Given the description of an element on the screen output the (x, y) to click on. 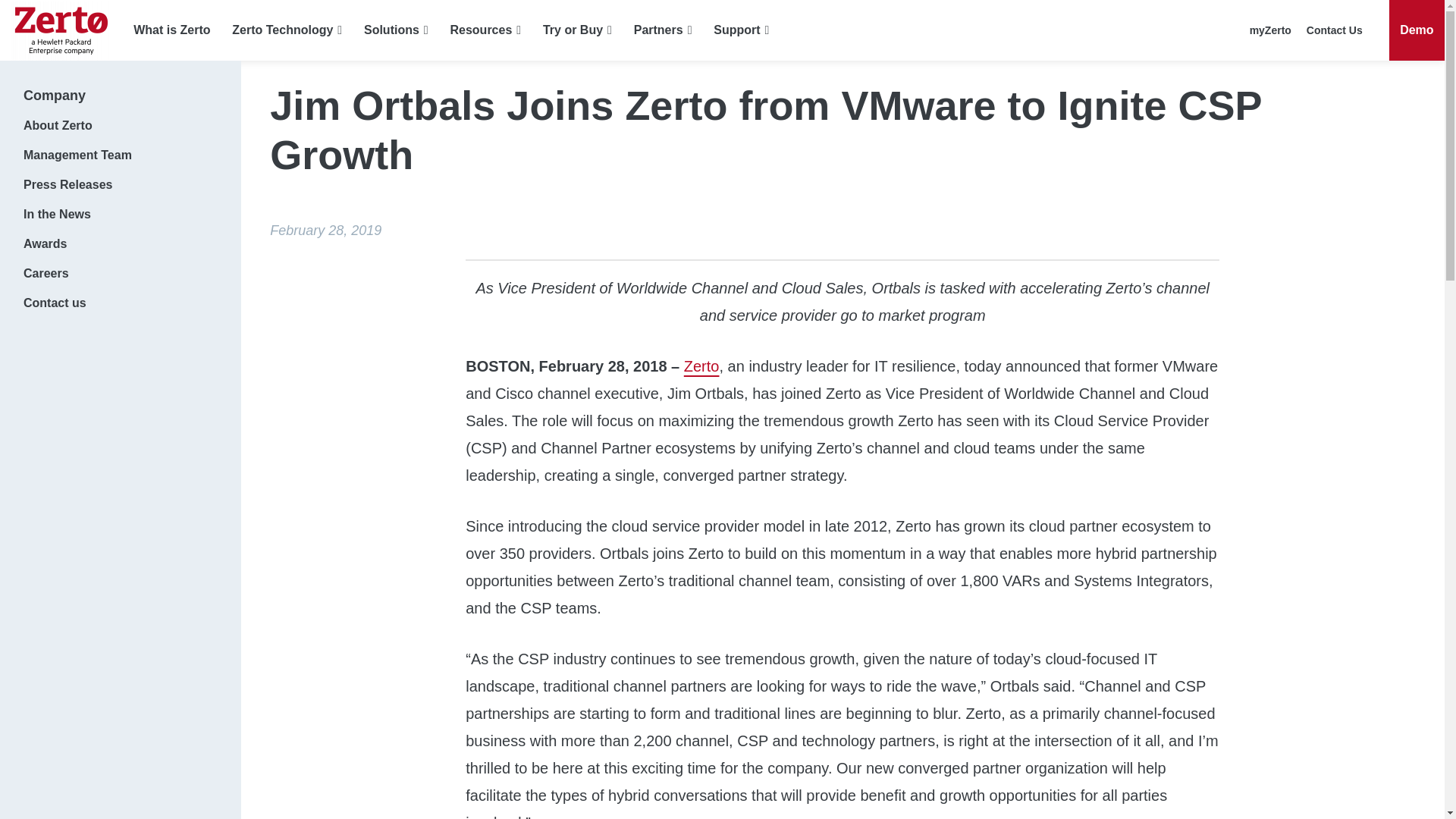
Press Releases (119, 184)
Management Team (119, 154)
Contact us (119, 302)
Solutions (396, 30)
Awards (119, 243)
Careers (119, 273)
About Zerto (119, 125)
What is Zerto (171, 30)
In the News (119, 214)
Zerto Technology (287, 30)
